Given the description of an element on the screen output the (x, y) to click on. 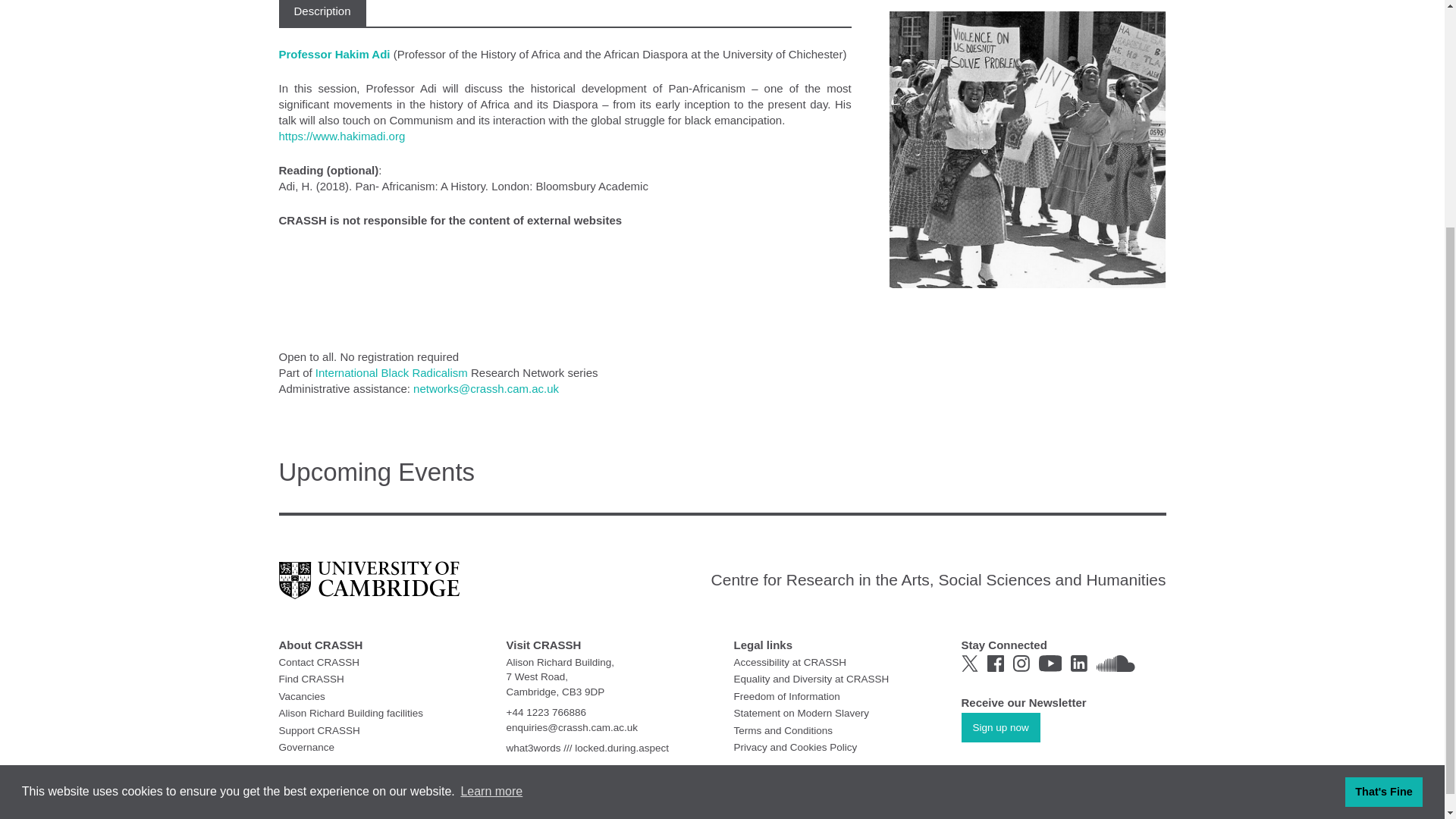
That's Fine (1383, 477)
International Black Radicalism (391, 371)
Support CRASSH (319, 730)
Accessibility at CRASSH (790, 662)
Professor Hakim Adi (336, 52)
Terms and Conditions (782, 730)
Contact CRASSH (319, 662)
Vacancies (301, 695)
Find CRASSH (311, 678)
Alison Richard Building facilities (351, 713)
Freedom of Information (786, 695)
Statement on Modern Slavery (801, 713)
Equality and Diversity at CRASSH (811, 678)
Governance (306, 747)
Learn more (491, 477)
